Given the description of an element on the screen output the (x, y) to click on. 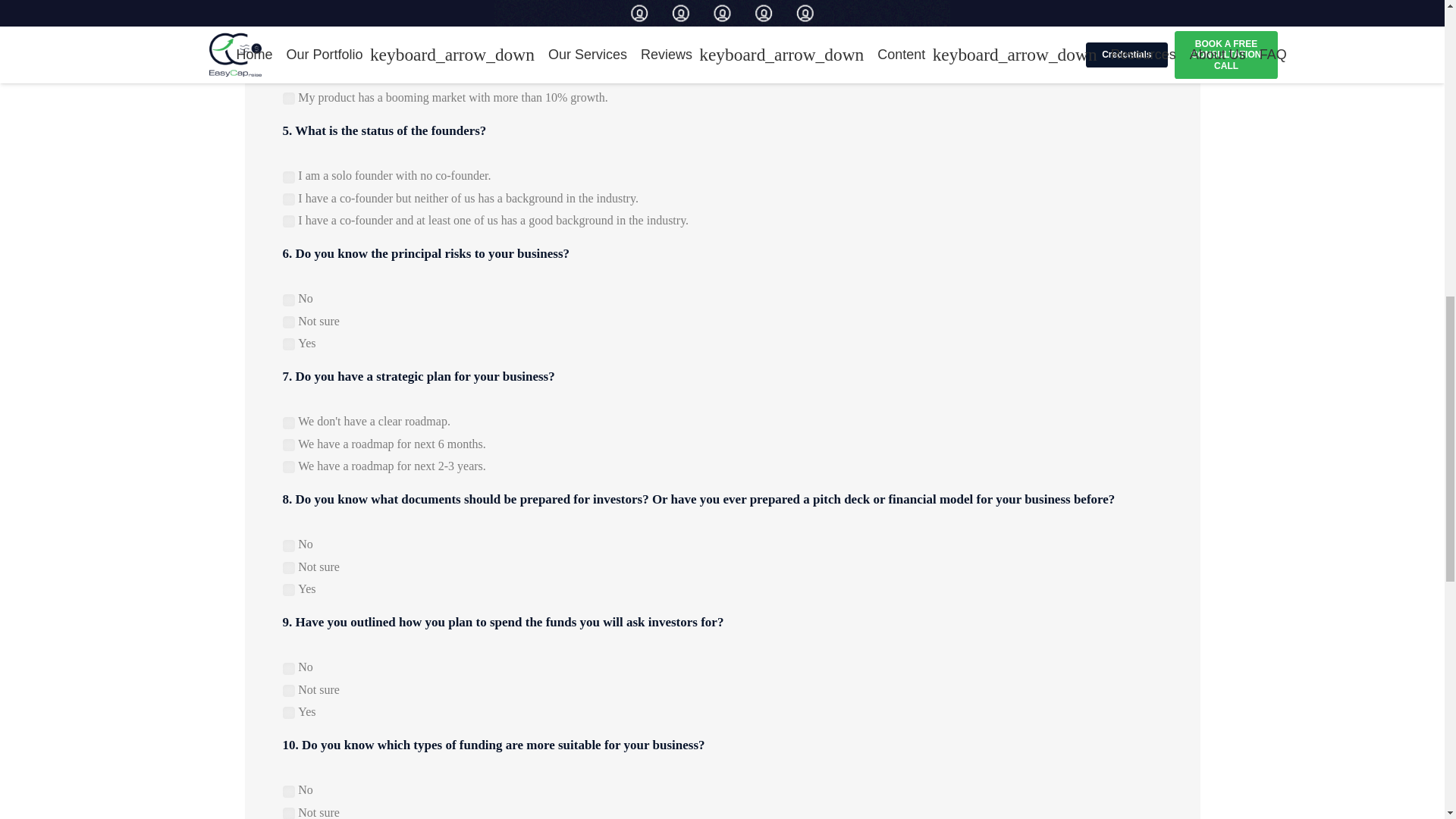
Back to top (1413, 26)
